Given the description of an element on the screen output the (x, y) to click on. 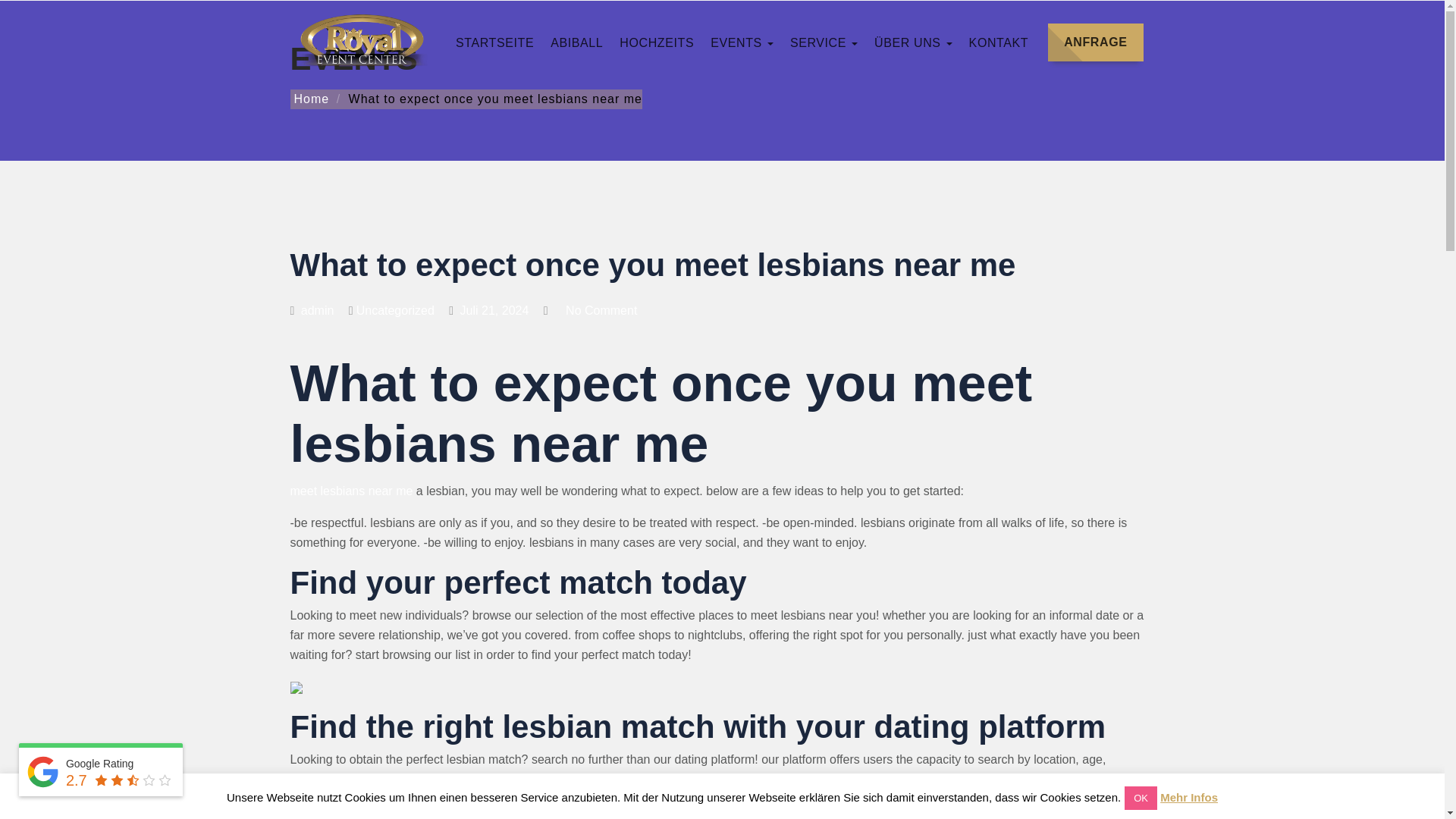
SERVICE (881, 42)
Uncategorized (394, 309)
EVENTS (973, 42)
Juli 21, 2024 (488, 309)
ANFRAGE (1095, 41)
ABIBALL (895, 42)
Home (309, 98)
No Comment (601, 309)
KONTAKT (998, 42)
EVENTS (741, 42)
STARTSEITE (871, 42)
admin (311, 309)
meet lesbians near me (350, 490)
SERVICE (823, 42)
HOCHZEITS (946, 42)
